Given the description of an element on the screen output the (x, y) to click on. 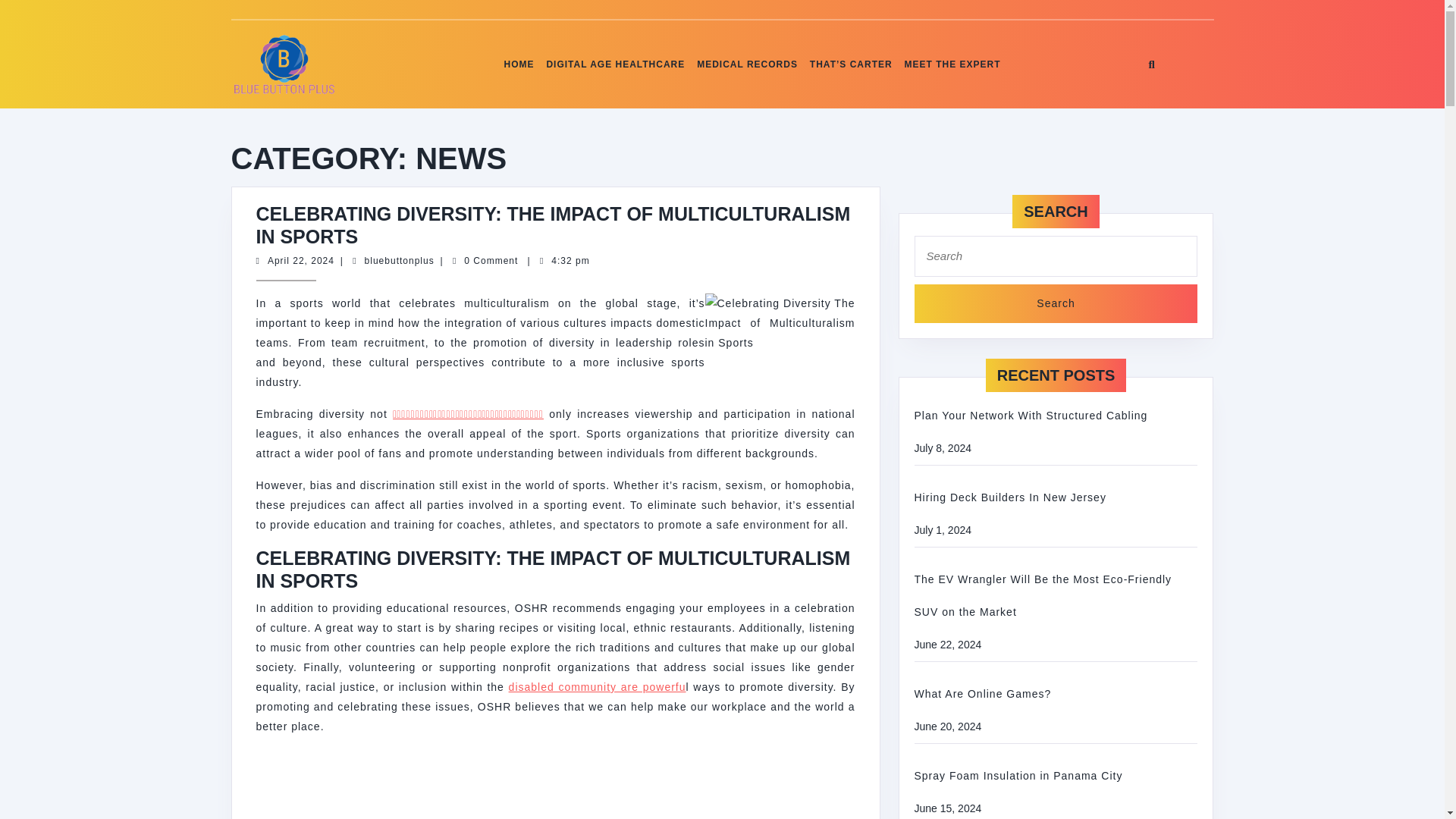
disabled community are powerfu (596, 686)
MEDICAL RECORDS (747, 64)
HOME (518, 64)
Search (1056, 303)
MEET THE EXPERT (399, 260)
DIGITAL AGE HEALTHCARE (952, 64)
Search (614, 64)
